Given the description of an element on the screen output the (x, y) to click on. 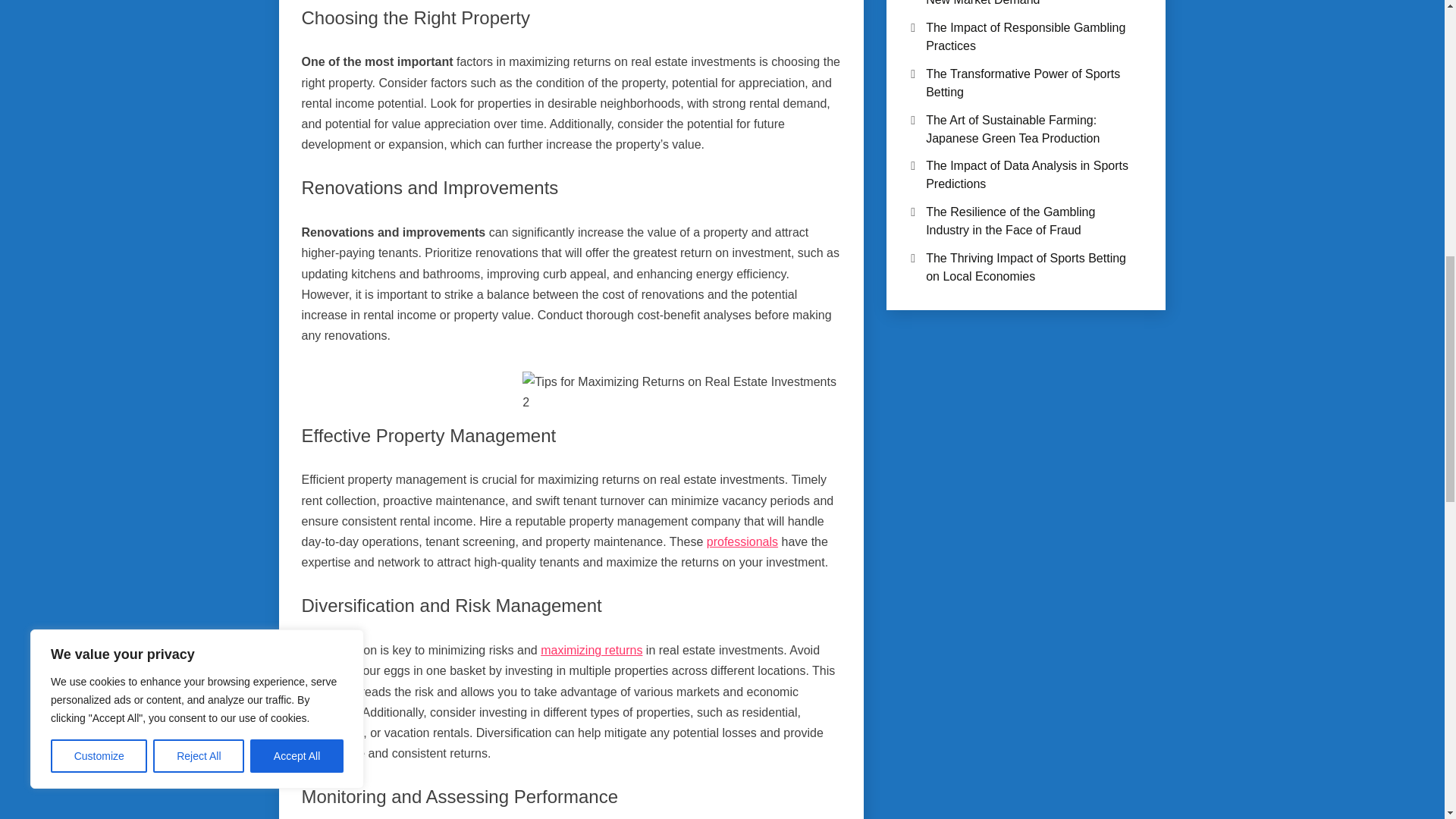
maximizing returns (591, 649)
professionals (741, 541)
